Given the description of an element on the screen output the (x, y) to click on. 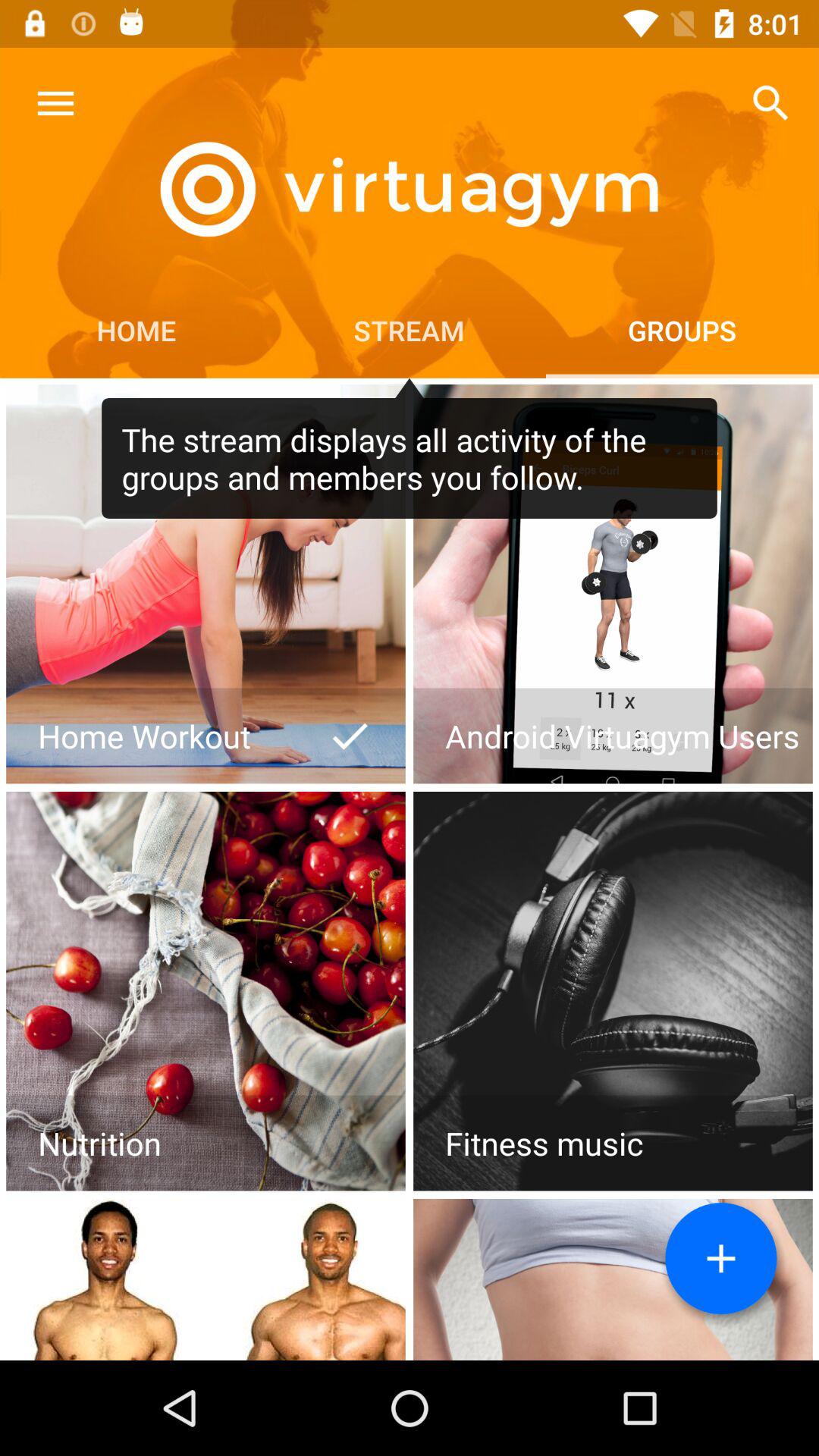
launch icon above home icon (55, 103)
